Given the description of an element on the screen output the (x, y) to click on. 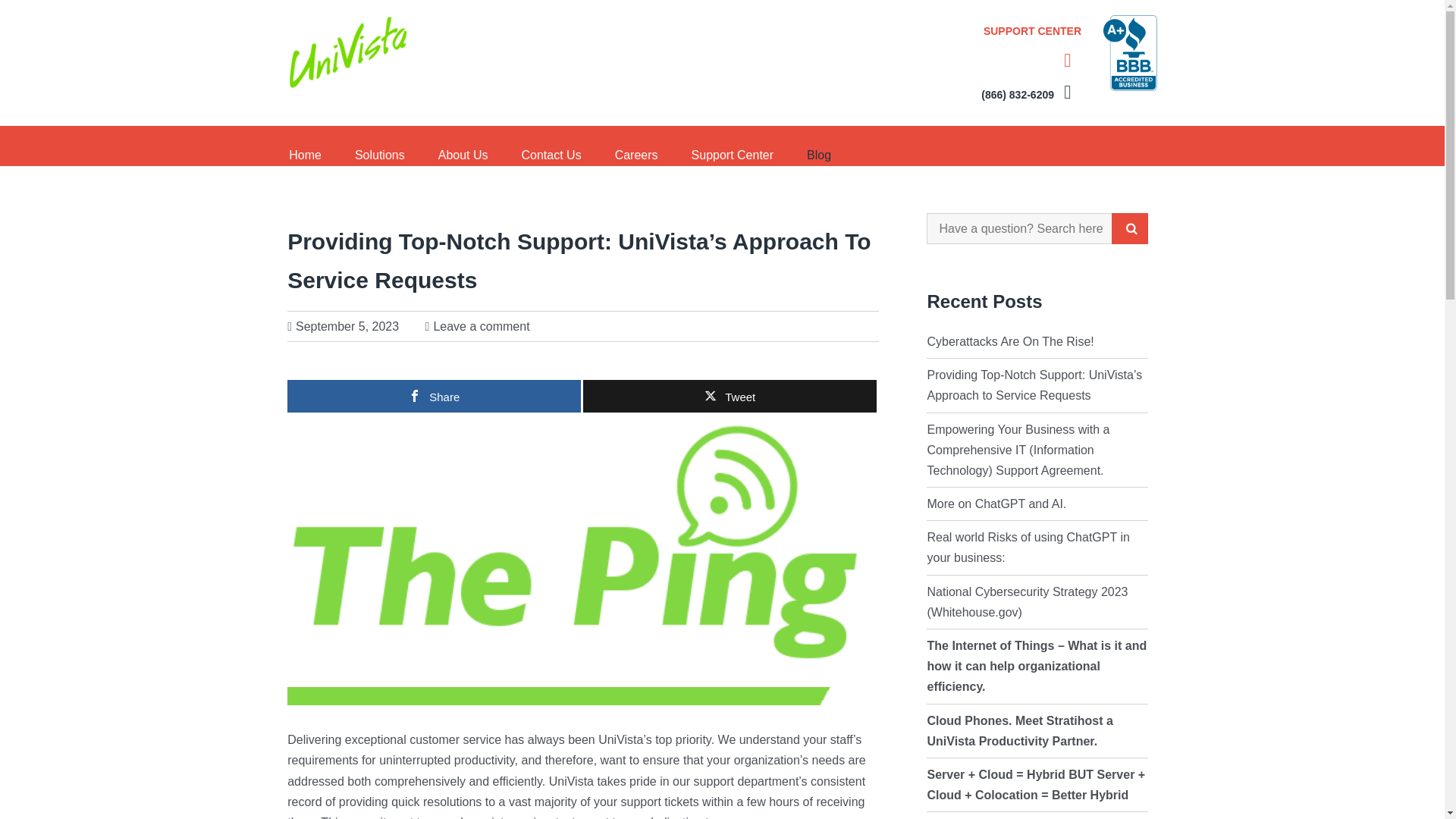
Blog (818, 145)
More on ChatGPT and AI. (995, 503)
Tweet (729, 396)
About Us (463, 145)
Real world Risks of using ChatGPT in your business: (1027, 547)
Solutions (379, 145)
Share (433, 396)
Cyberattacks Are On The Rise! (1009, 341)
Home (312, 145)
Search (1130, 228)
Search (1130, 228)
Careers (635, 145)
SUPPORT CENTER   (1035, 46)
Leave a comment (480, 326)
